Given the description of an element on the screen output the (x, y) to click on. 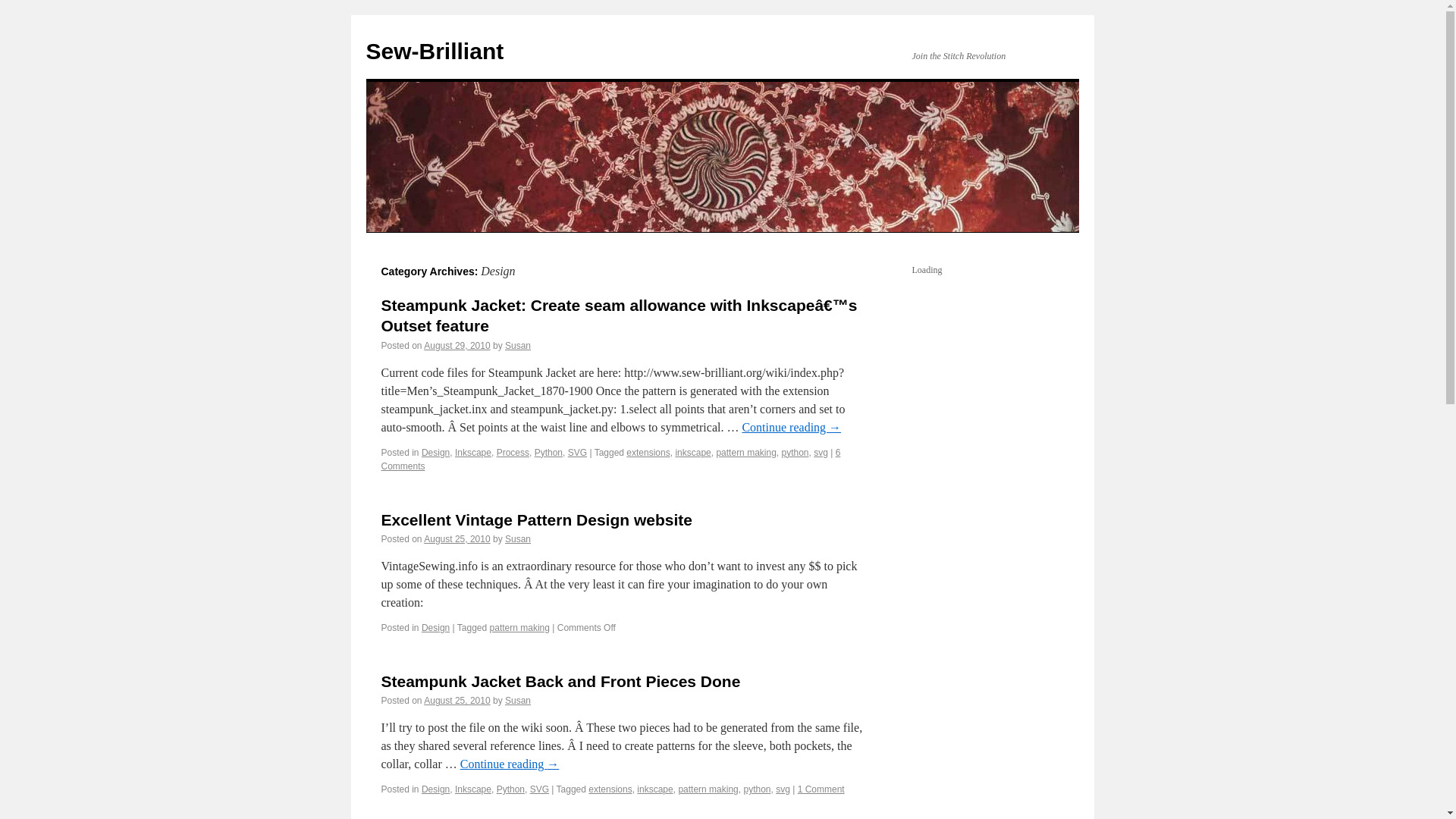
Sew-Brilliant (434, 50)
Python (510, 788)
inkscape (654, 788)
1 Comment (820, 788)
SVG (538, 788)
SVG (576, 452)
August 25, 2010 (456, 538)
python (794, 452)
inkscape (692, 452)
View all posts by Susan (518, 538)
Design (435, 627)
Susan (518, 345)
6 Comments (610, 459)
Sew-Brilliant (434, 50)
8:23 pm (456, 538)
